Given the description of an element on the screen output the (x, y) to click on. 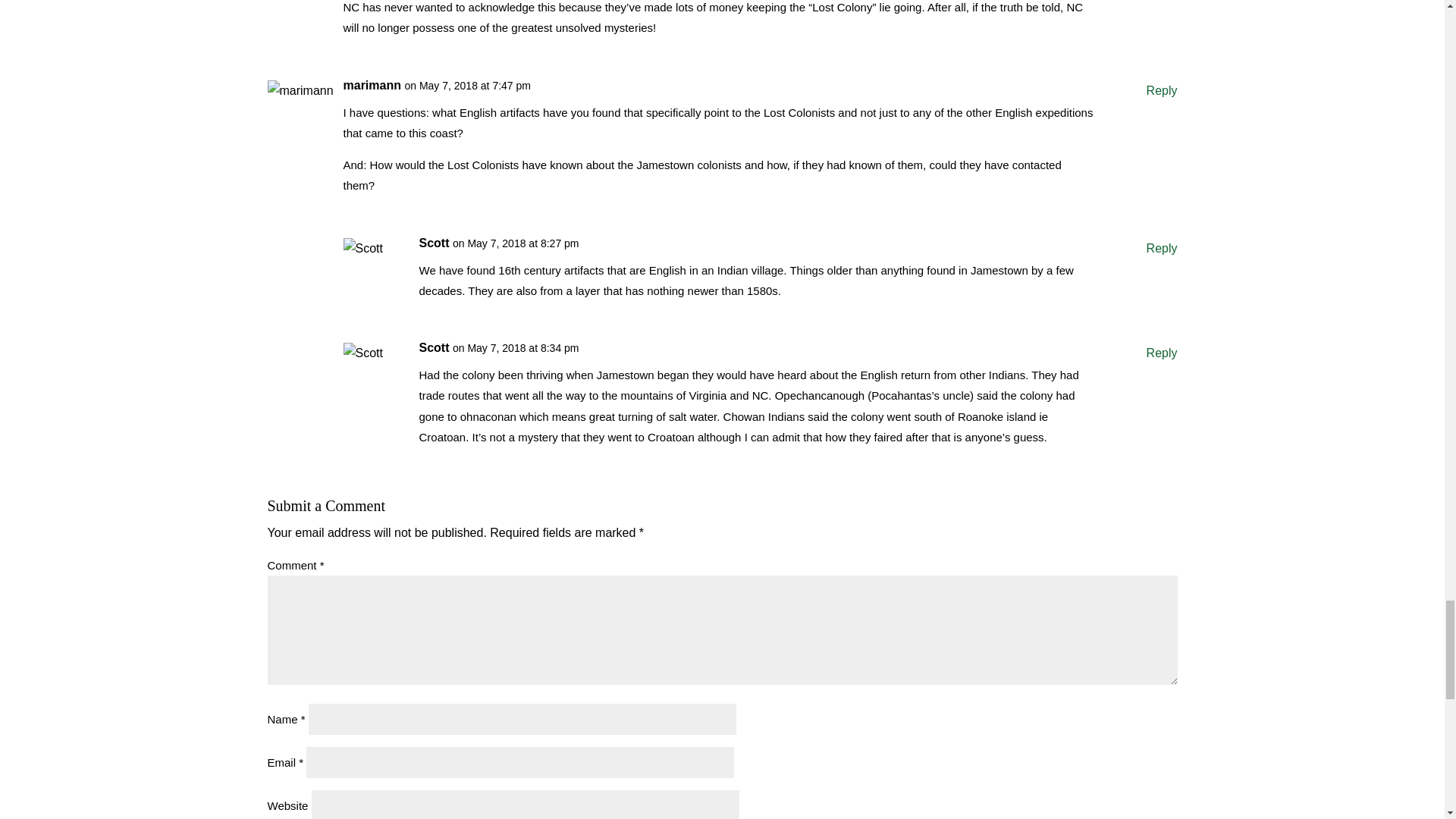
marimann (371, 85)
Reply (1162, 90)
Reply (1162, 248)
Reply (1162, 353)
